Given the description of an element on the screen output the (x, y) to click on. 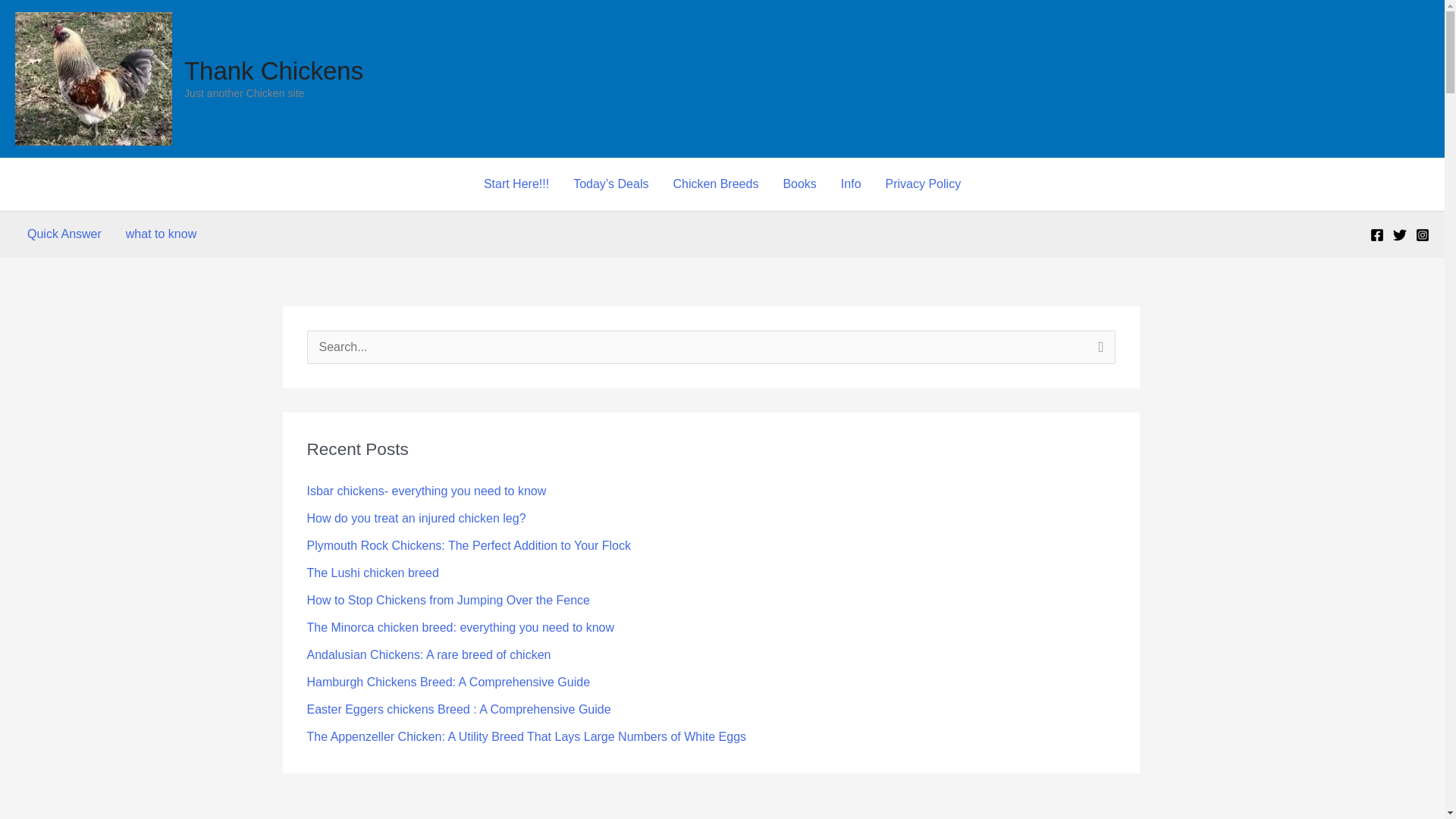
How to Stop Chickens from Jumping Over the Fence (447, 599)
Search (1098, 351)
Chicken Breeds (715, 184)
Quick Answer (63, 234)
Info (850, 184)
Andalusian Chickens: A rare breed of chicken (427, 654)
How do you treat an injured chicken leg? (415, 517)
Hamburgh Chickens Breed: A Comprehensive Guide (447, 681)
The Minorca chicken breed: everything you need to know (459, 626)
Thank Chickens (273, 70)
Start Here!!! (515, 184)
Books (799, 184)
Search (1098, 351)
The Lushi chicken breed (371, 572)
